Given the description of an element on the screen output the (x, y) to click on. 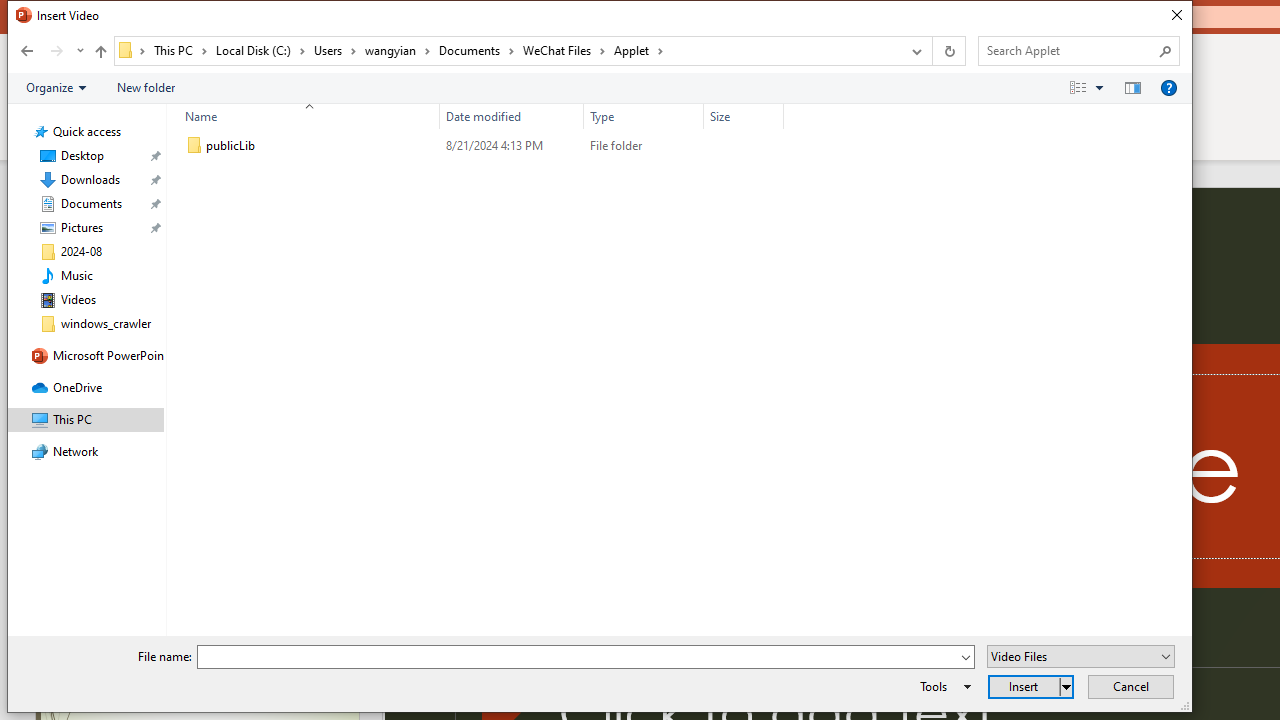
Organize (56, 87)
Address band toolbar (931, 51)
Type (643, 145)
